Given the description of an element on the screen output the (x, y) to click on. 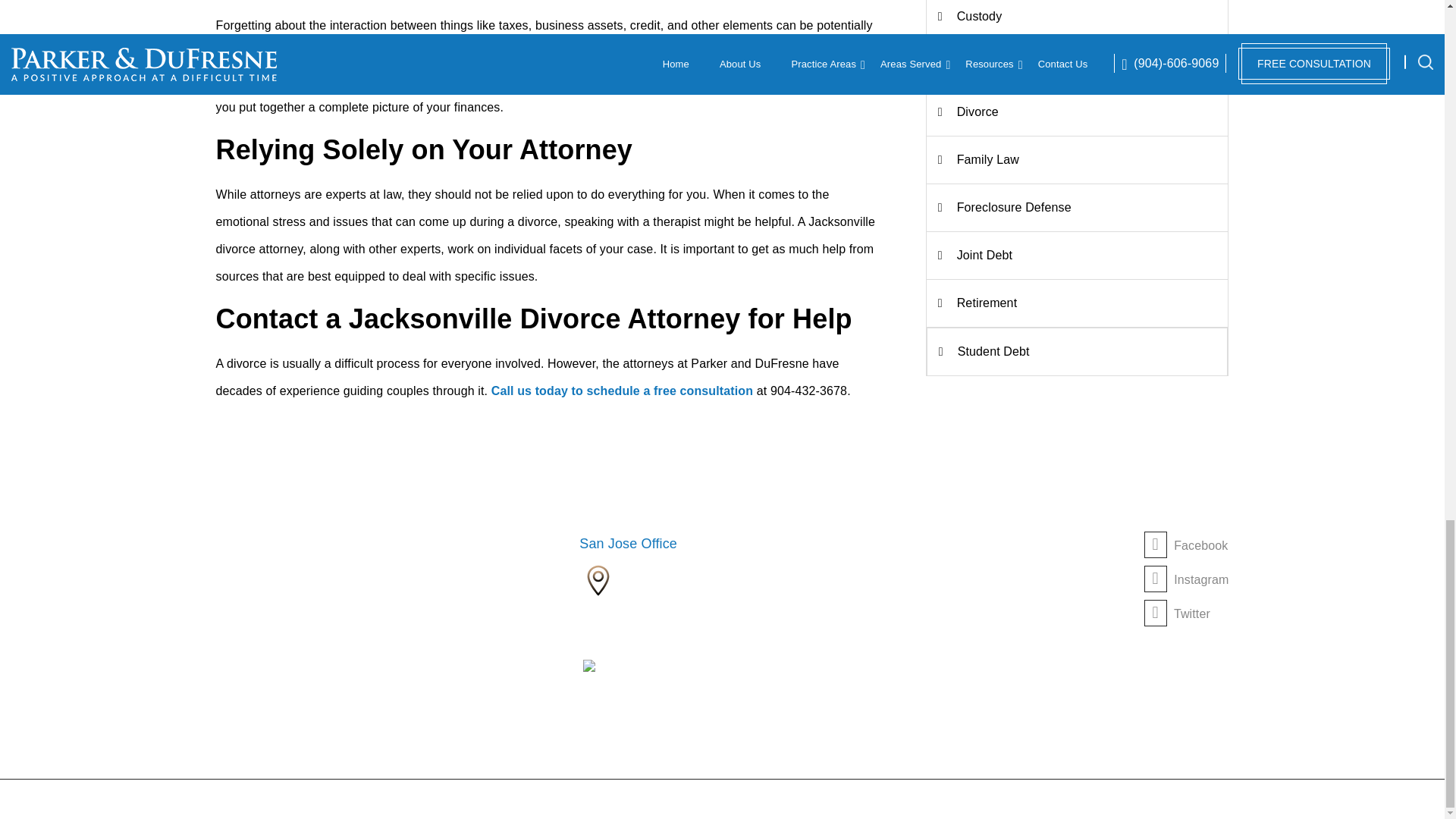
Call us today to schedule a free consultation (622, 390)
